Given the description of an element on the screen output the (x, y) to click on. 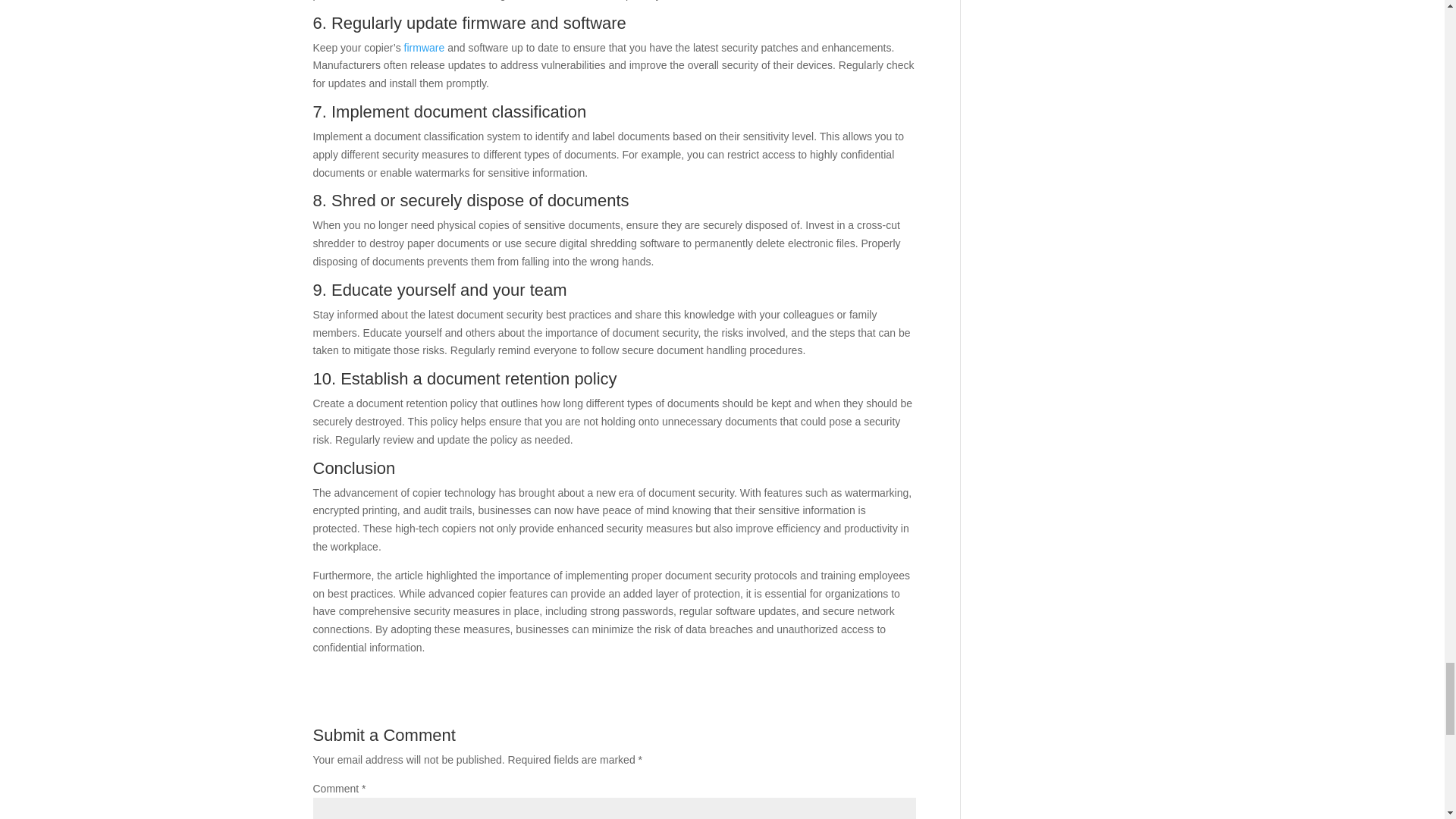
firmware (424, 47)
